Given the description of an element on the screen output the (x, y) to click on. 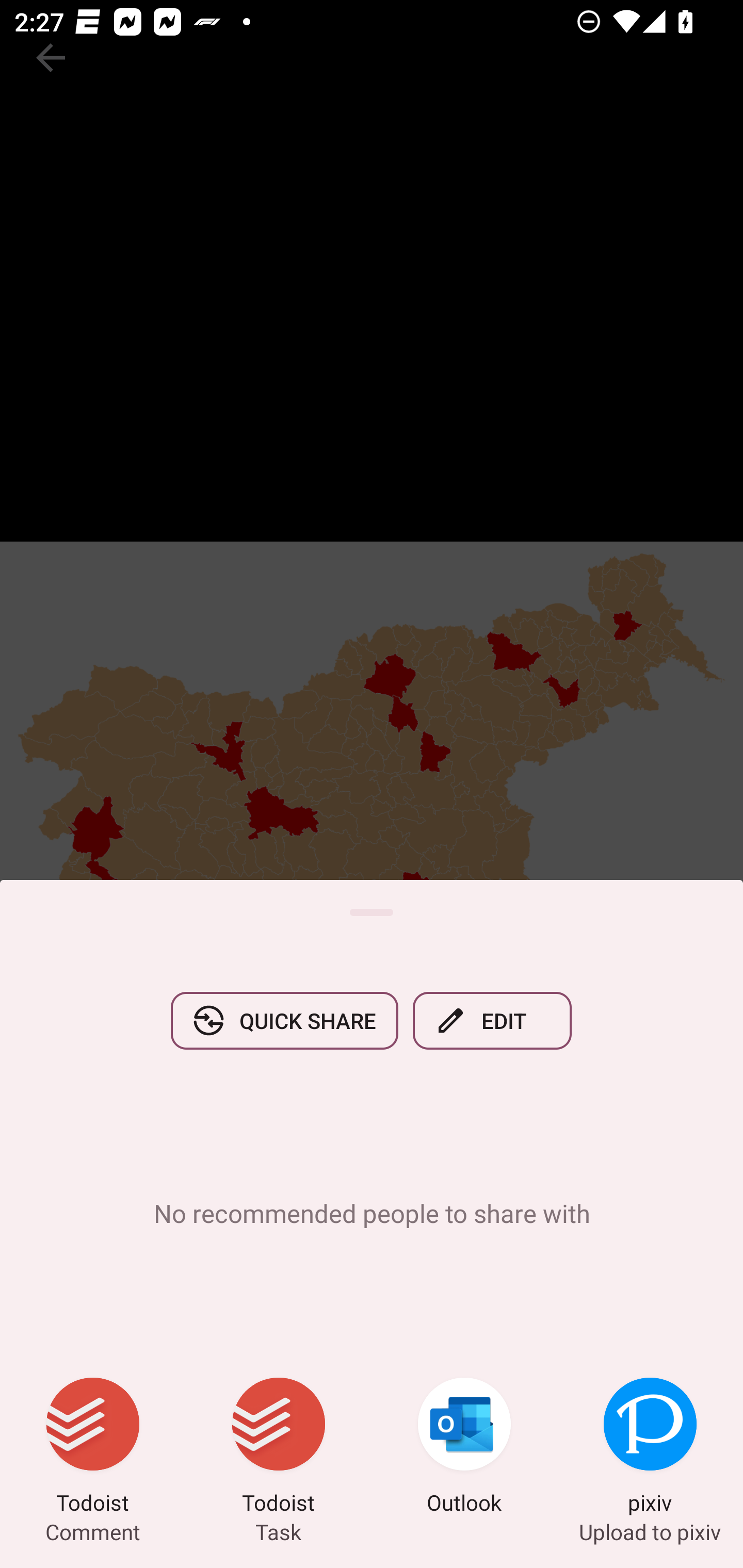
QUICK SHARE (284, 1020)
EDIT (492, 1020)
Todoist Comment (92, 1448)
Todoist Task (278, 1448)
Outlook (464, 1448)
pixiv Upload to pixiv (650, 1448)
